Given the description of an element on the screen output the (x, y) to click on. 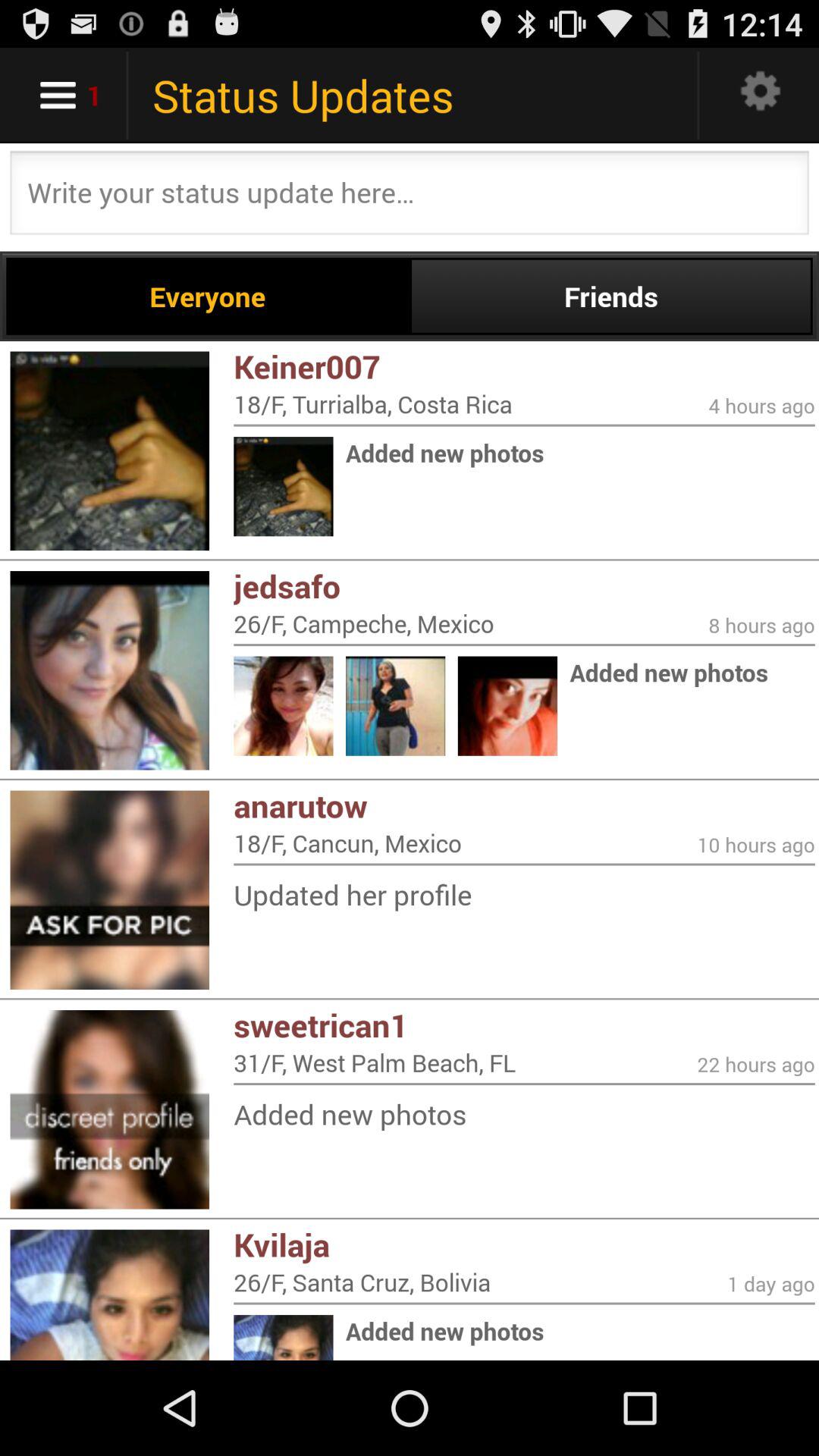
choose the icon above the 31 f west icon (524, 1024)
